Given the description of an element on the screen output the (x, y) to click on. 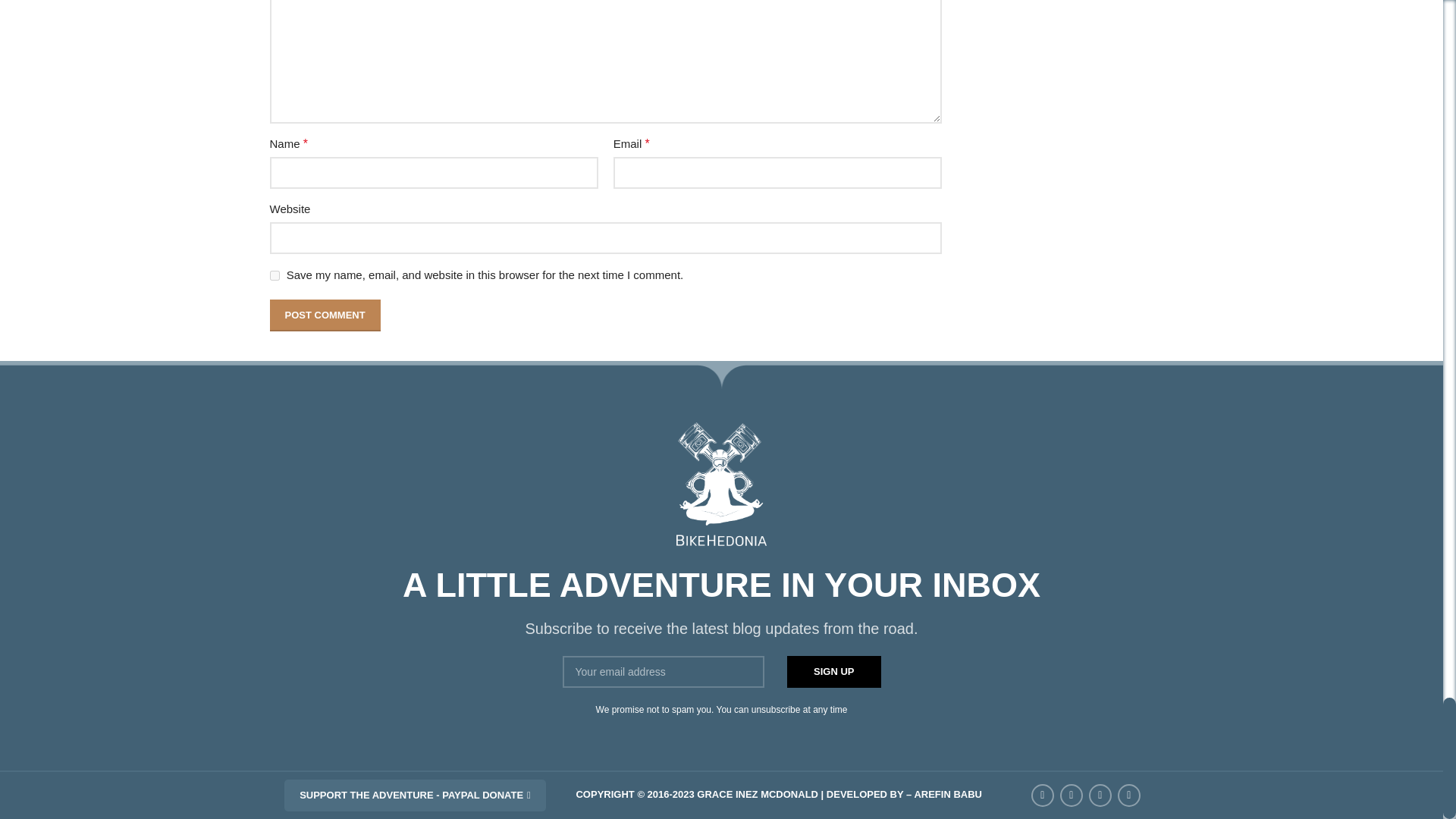
Post Comment (324, 315)
yes (274, 275)
Sign up (833, 671)
